Given the description of an element on the screen output the (x, y) to click on. 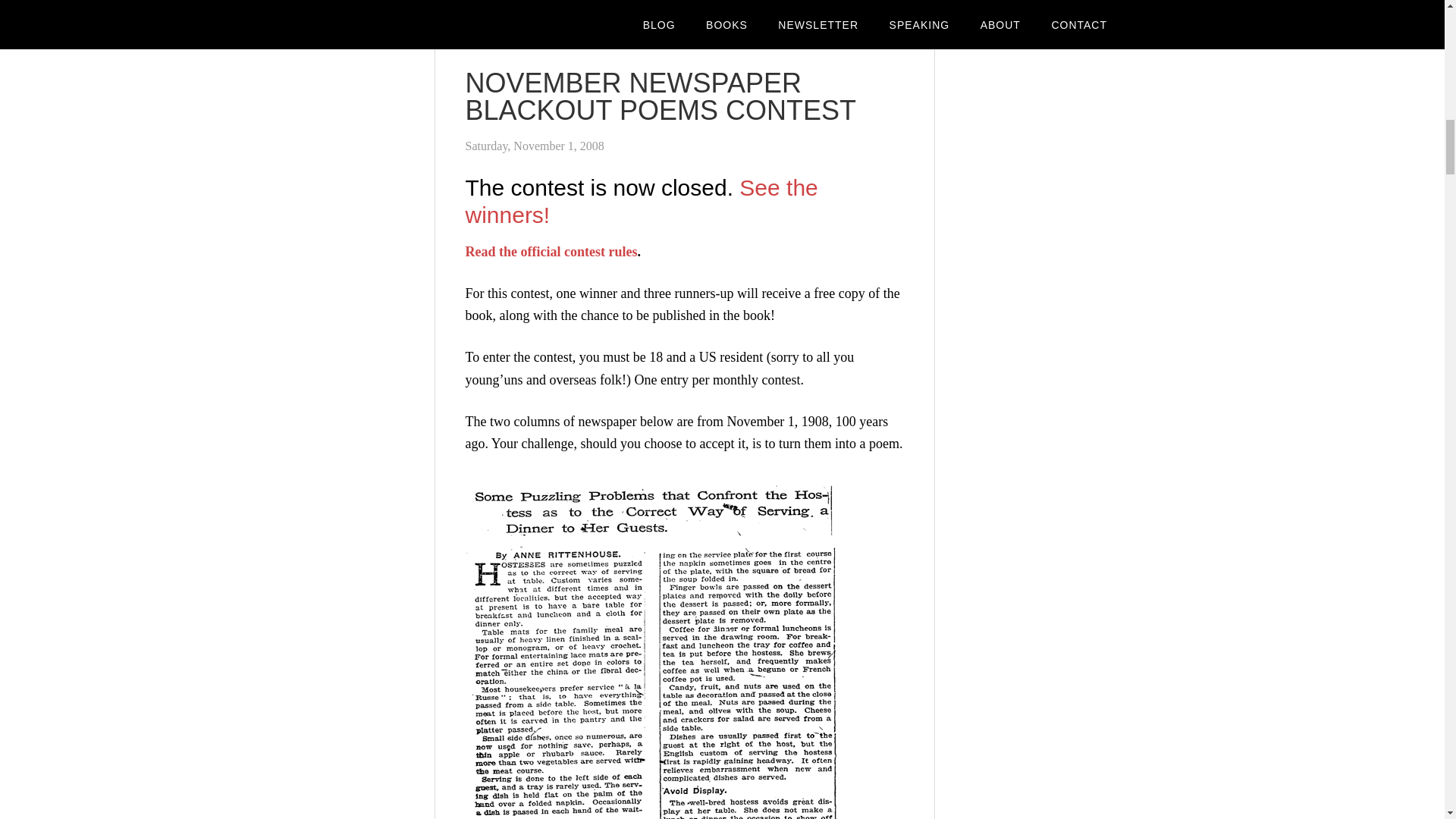
Permalink (490, 10)
See the winners! (641, 200)
Read the official contest rules (551, 251)
NOVEMBER NEWSPAPER BLACKOUT POEMS CONTEST (660, 95)
